Given the description of an element on the screen output the (x, y) to click on. 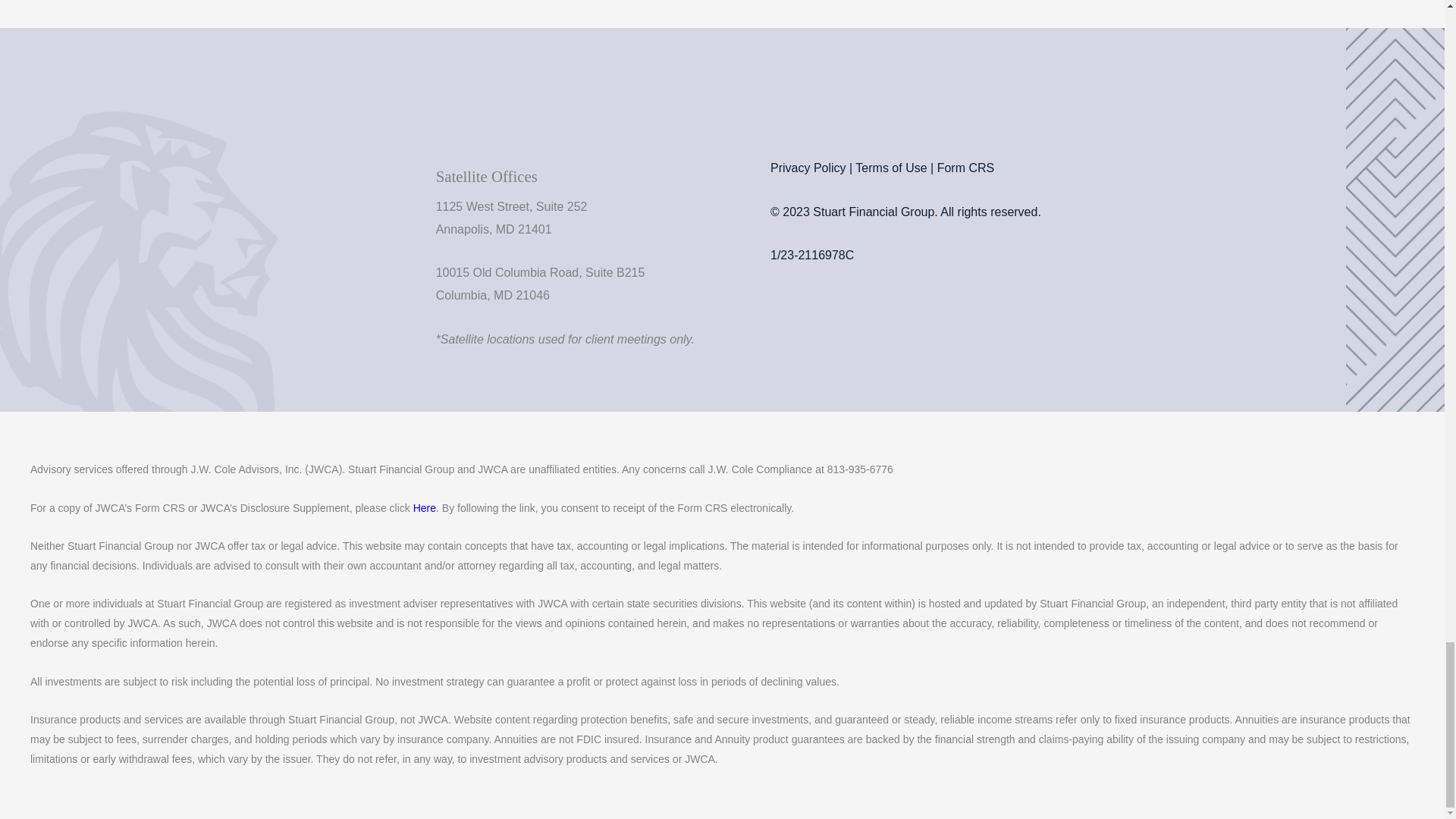
brokercheck (826, 303)
slovon-maryland (978, 36)
stuart-logo (217, 175)
